Given the description of an element on the screen output the (x, y) to click on. 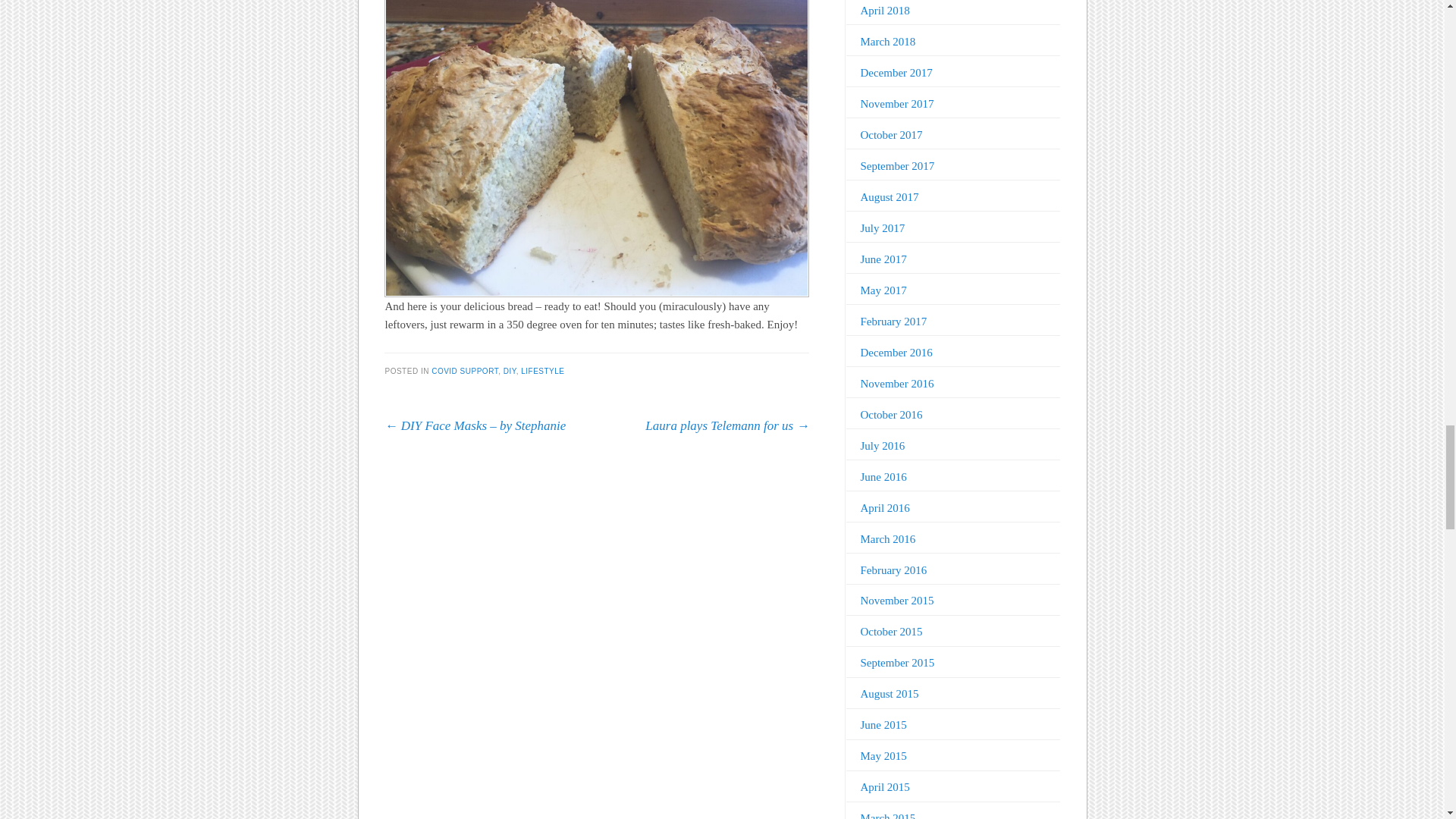
DIY (509, 370)
COVID SUPPORT (463, 370)
LIFESTYLE (542, 370)
